Given the description of an element on the screen output the (x, y) to click on. 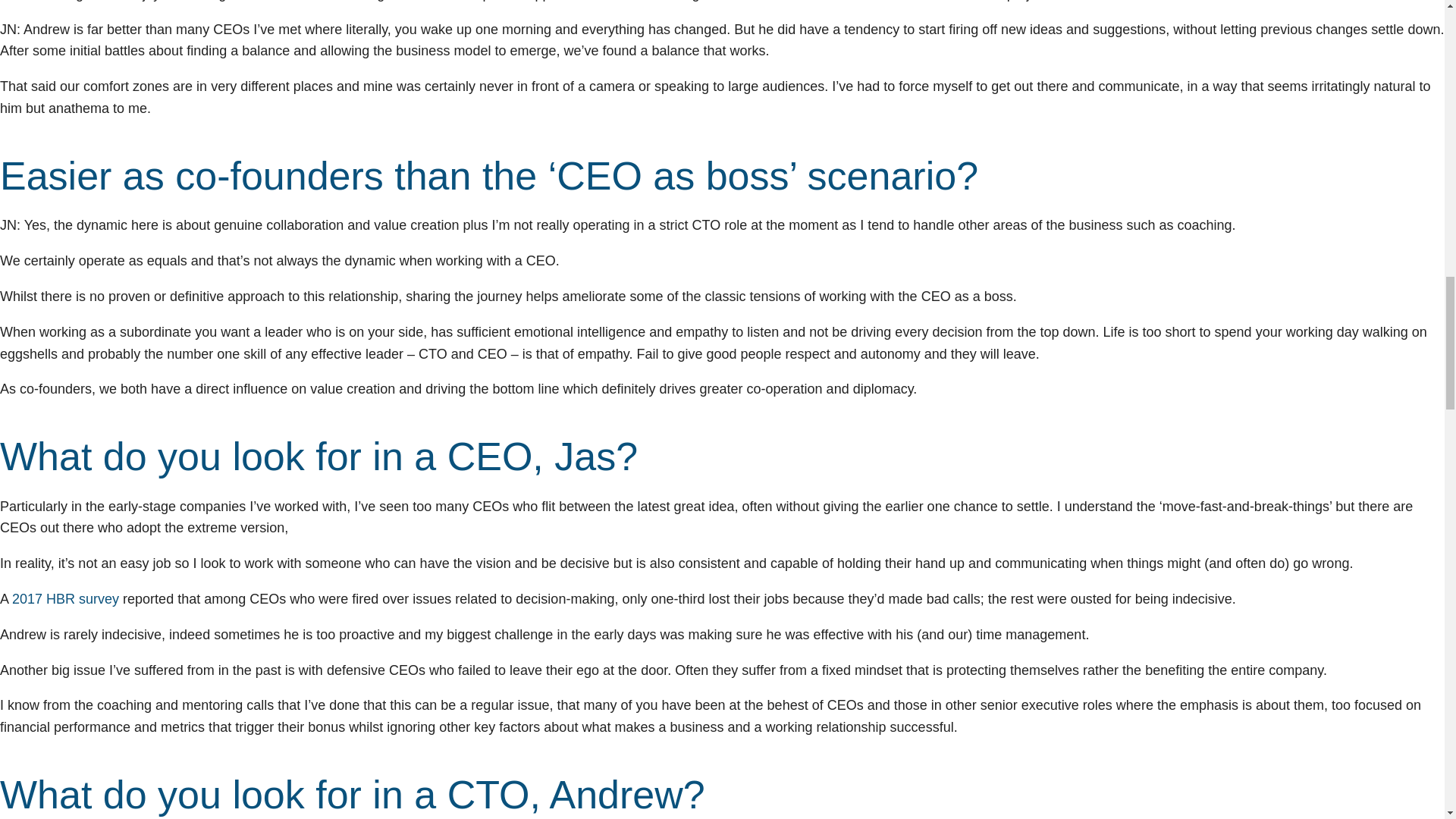
2017 HBR survey (65, 598)
